Given the description of an element on the screen output the (x, y) to click on. 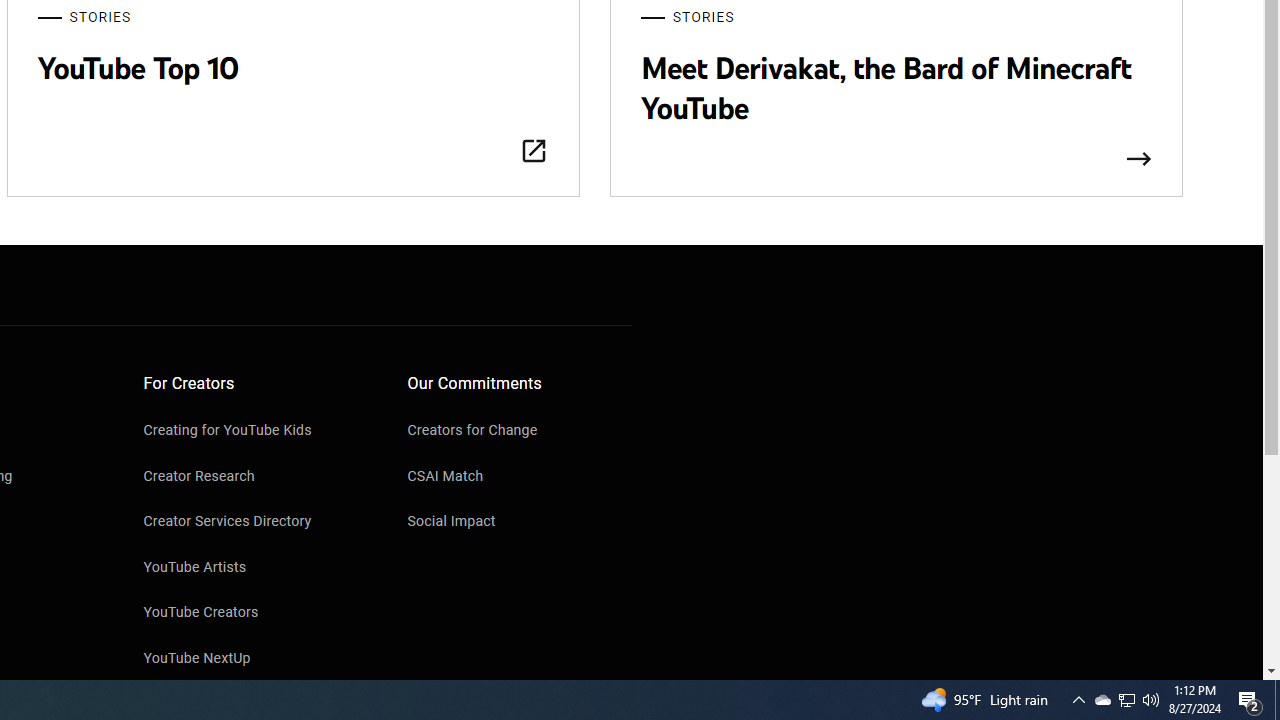
Social Impact (519, 523)
YouTube Creators (255, 614)
Creators for Change (519, 431)
YouTube Artists (255, 568)
Creator Research (255, 478)
Creator Services Directory (255, 523)
Creating for YouTube Kids (255, 431)
CSAI Match (519, 478)
YouTube NextUp (255, 659)
